Given the description of an element on the screen output the (x, y) to click on. 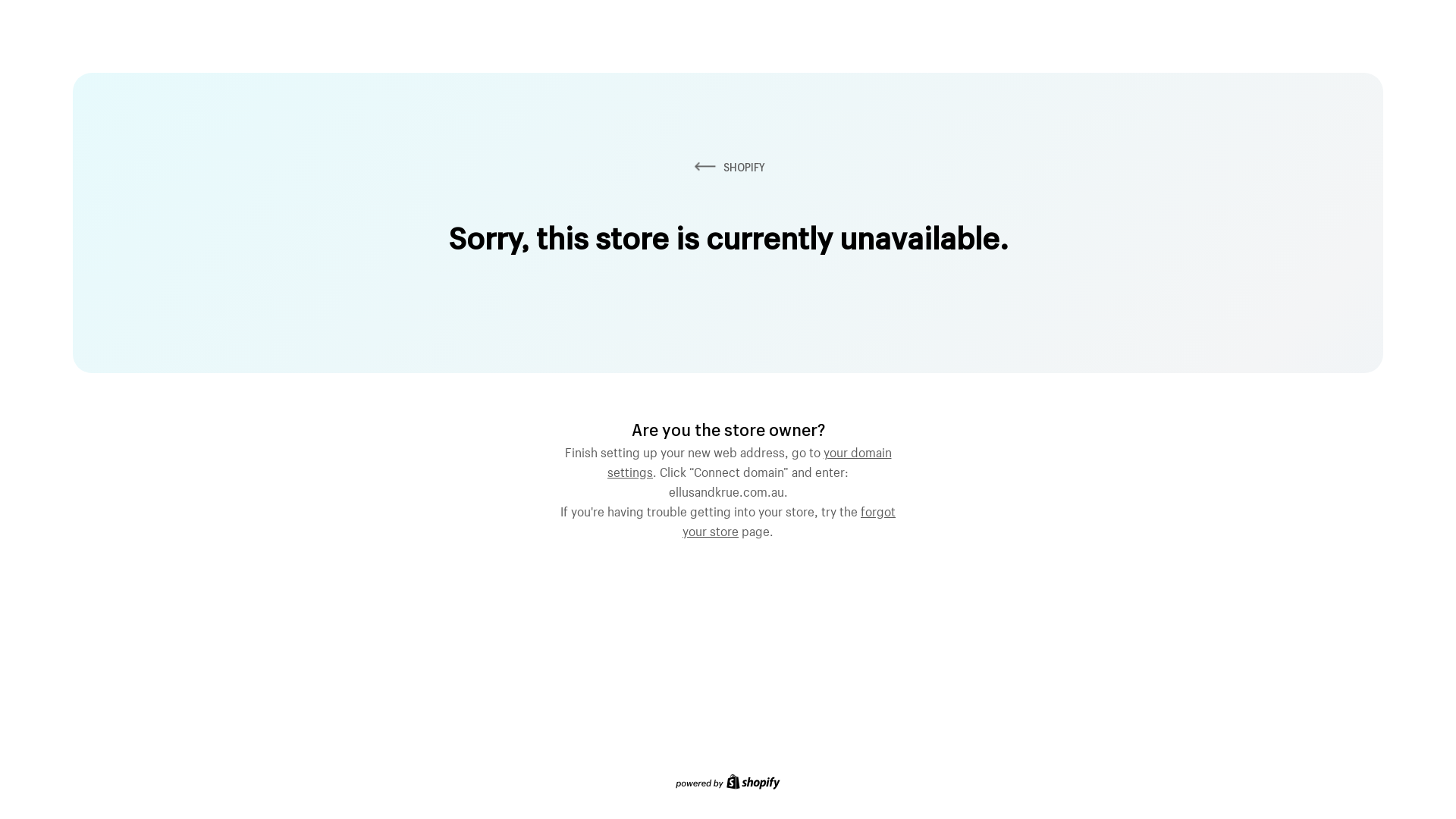
SHOPIFY Element type: text (727, 167)
forgot your store Element type: text (788, 519)
your domain settings Element type: text (749, 460)
